Given the description of an element on the screen output the (x, y) to click on. 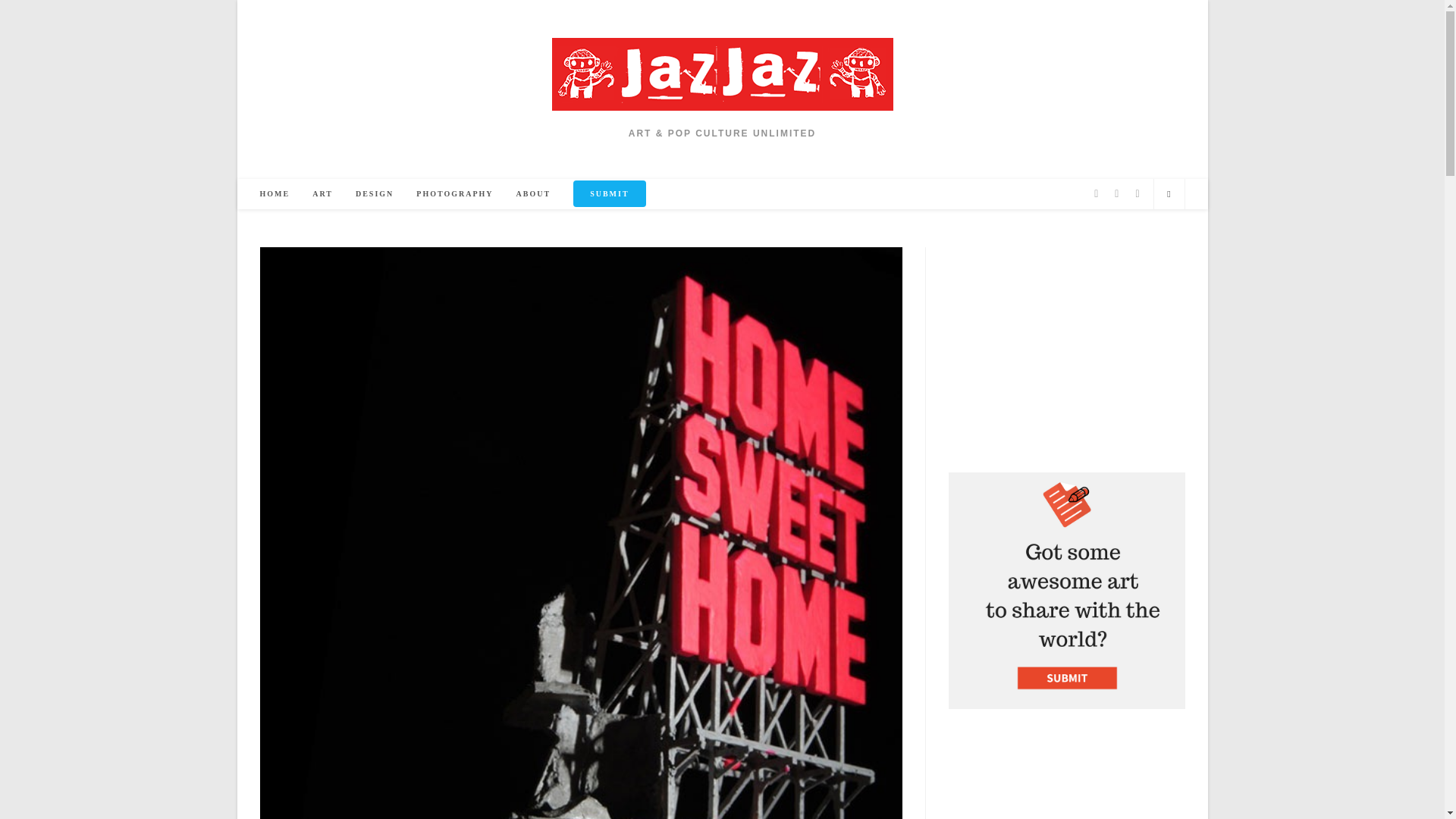
HOME (274, 194)
PHOTOGRAPHY (453, 194)
DESIGN (373, 194)
SUBMIT (609, 194)
ABOUT (533, 194)
ART (322, 194)
